Given the description of an element on the screen output the (x, y) to click on. 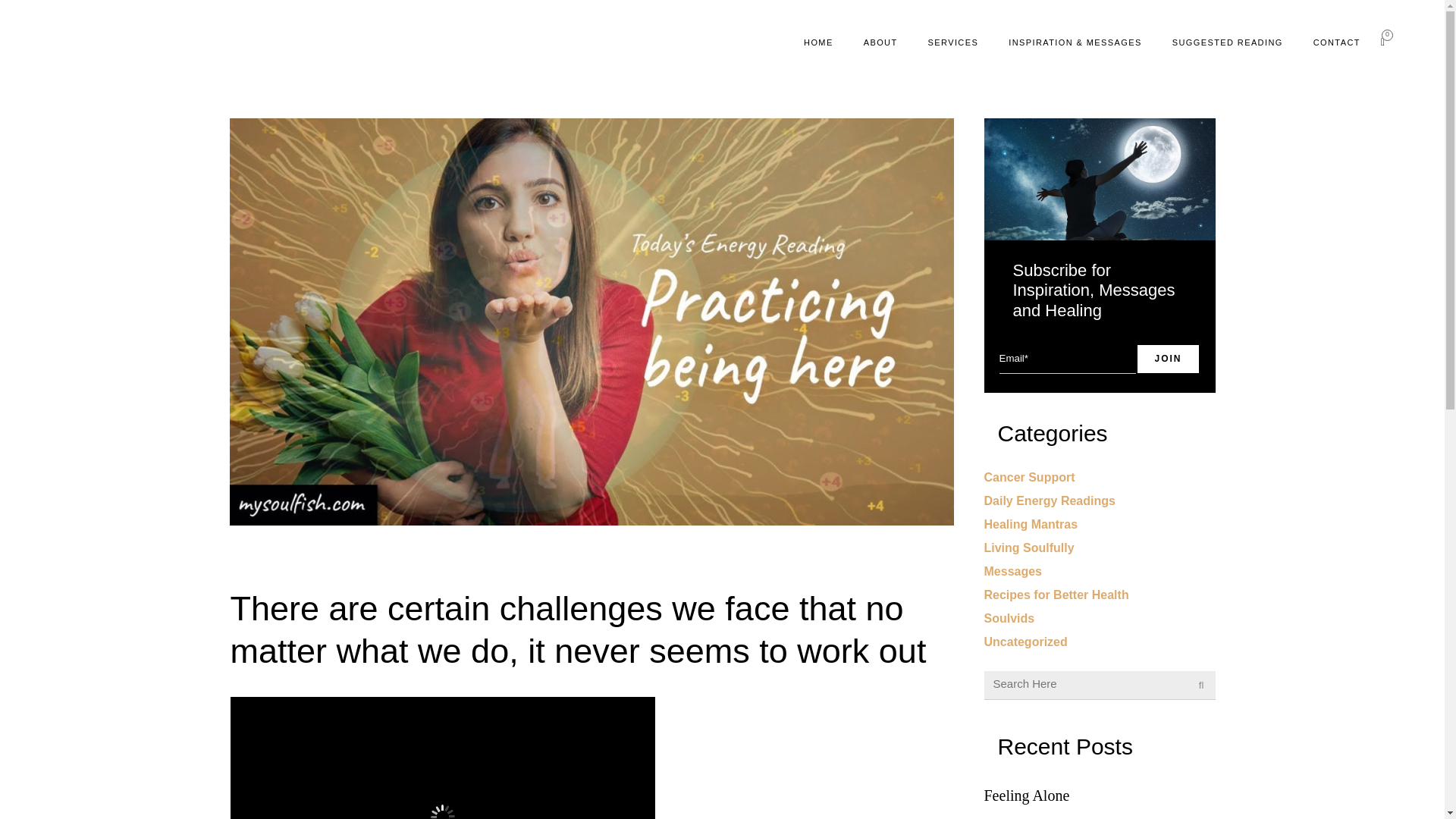
Cancer Support (1029, 477)
CONTACT (1336, 42)
Recipes for Better Health (1056, 594)
Join (1167, 358)
Uncategorized (1025, 641)
Living Soulfully (1029, 547)
Messages (1013, 571)
SERVICES (953, 42)
Daily Energy Readings (1049, 500)
Join (1167, 358)
Healing Mantras (1031, 523)
Feeling Alone (1099, 795)
SUGGESTED READING (1227, 42)
